Given the description of an element on the screen output the (x, y) to click on. 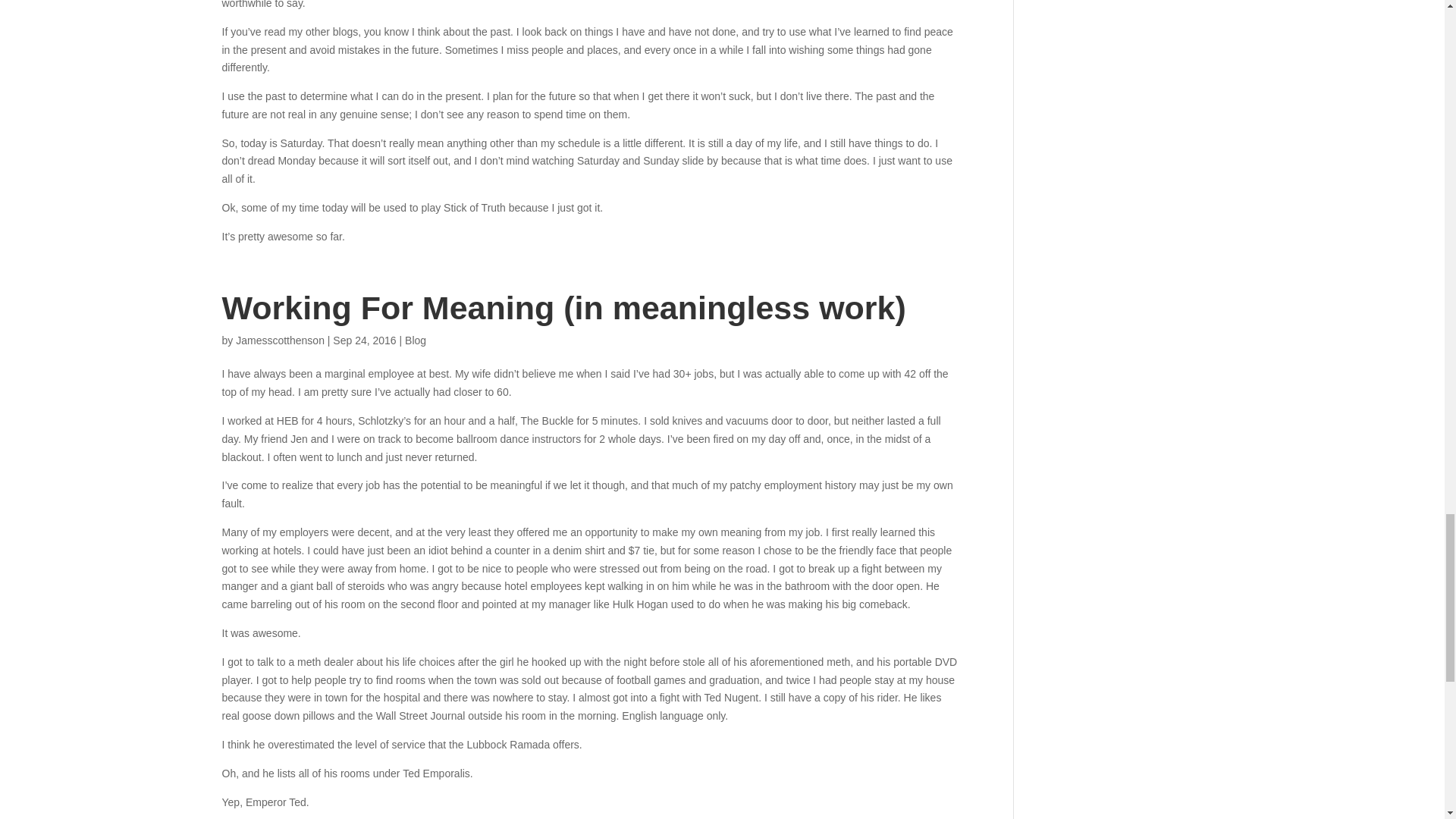
Posts by Jamesscotthenson (279, 340)
Blog (415, 340)
Jamesscotthenson (279, 340)
